Given the description of an element on the screen output the (x, y) to click on. 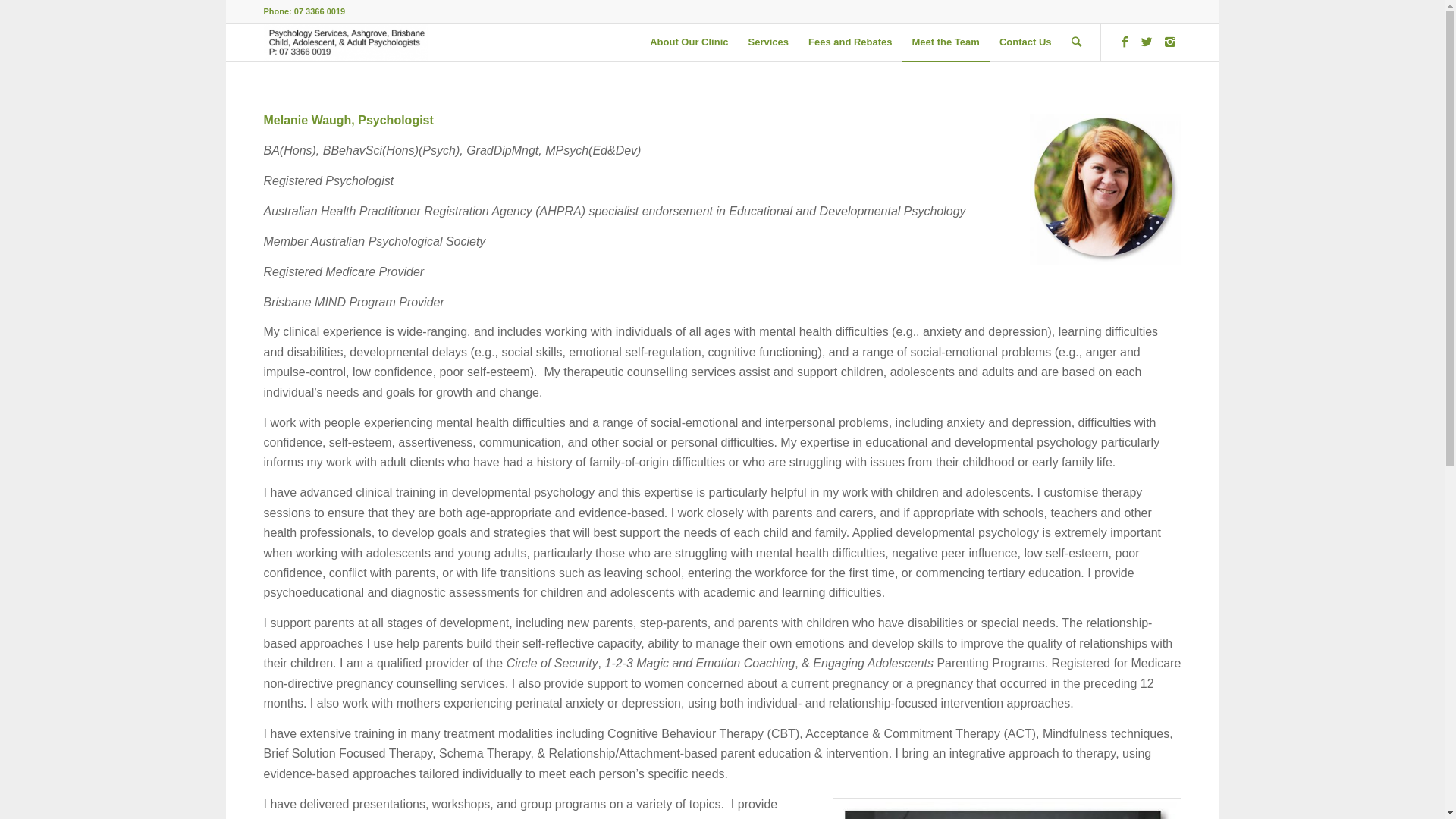
Twitter Element type: hover (1146, 41)
Facebook Element type: hover (1124, 41)
Fees and Rebates Element type: text (850, 42)
About Our Clinic Element type: text (688, 42)
Contact Us Element type: text (1025, 42)
Instagram Element type: hover (1169, 41)
Services Element type: text (767, 42)
Meet the Team Element type: text (945, 42)
